Given the description of an element on the screen output the (x, y) to click on. 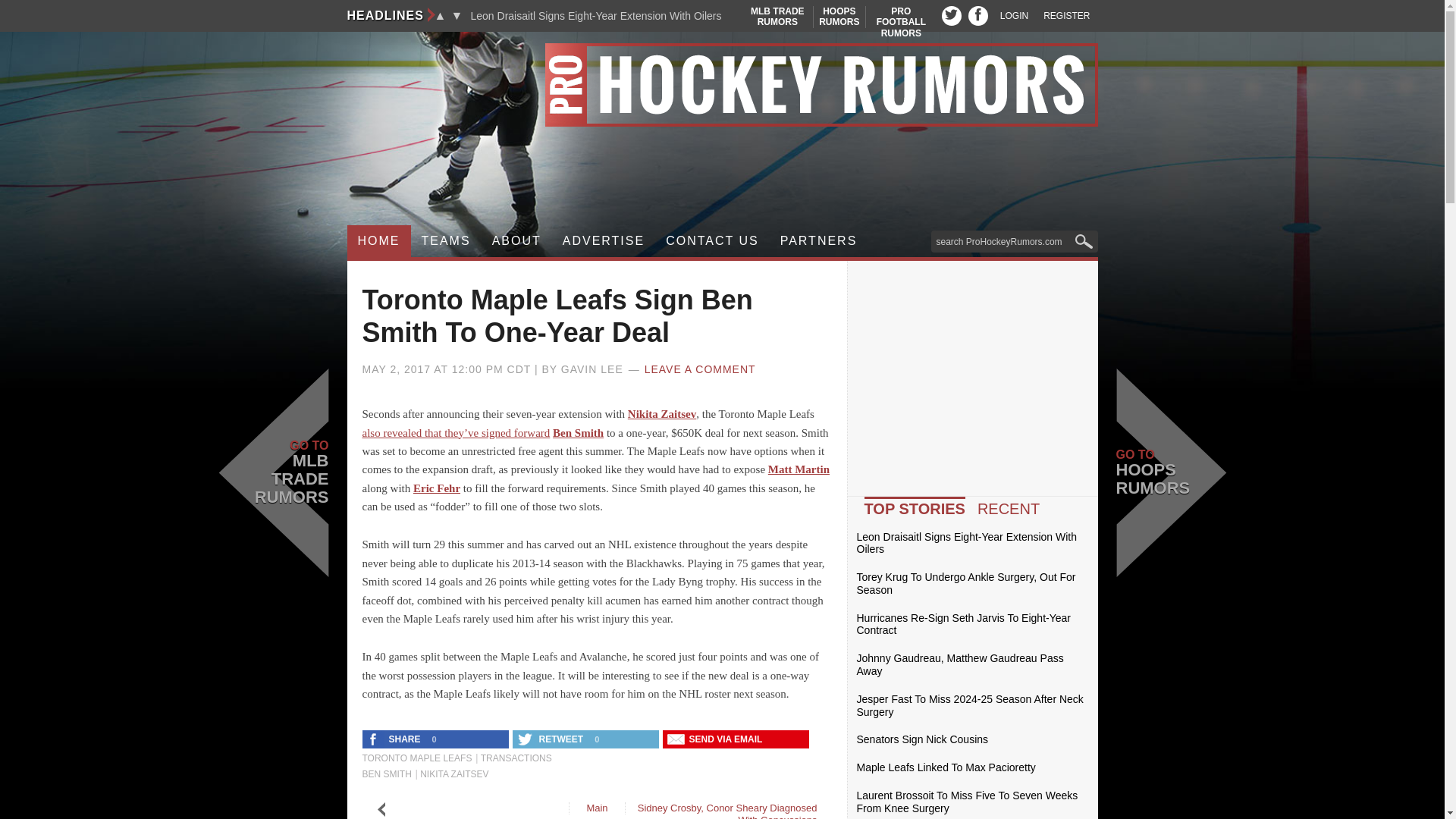
Twitter profile (901, 21)
Previous (951, 15)
FB profile (439, 15)
REGISTER (978, 15)
Next (1066, 15)
Pro Hockey Rumors (456, 15)
Leon Draisaitl Signs Eight-Year Extension With Oilers (722, 84)
